Given the description of an element on the screen output the (x, y) to click on. 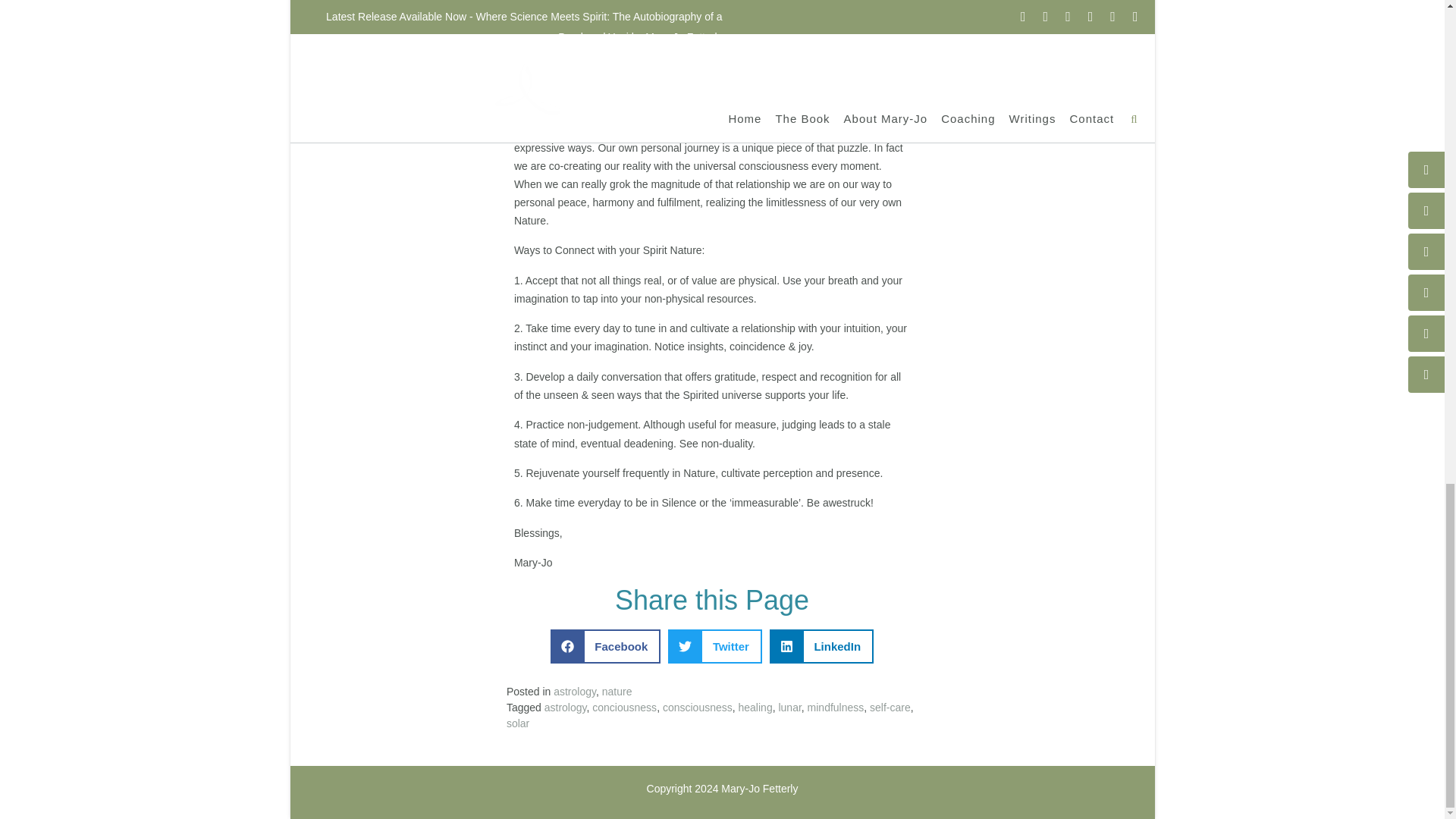
conciousness (624, 707)
healing (755, 707)
astrology (565, 707)
astrology (574, 691)
consciousness (697, 707)
nature (616, 691)
lunar (788, 707)
self-care (890, 707)
mindfulness (836, 707)
solar (517, 723)
